Given the description of an element on the screen output the (x, y) to click on. 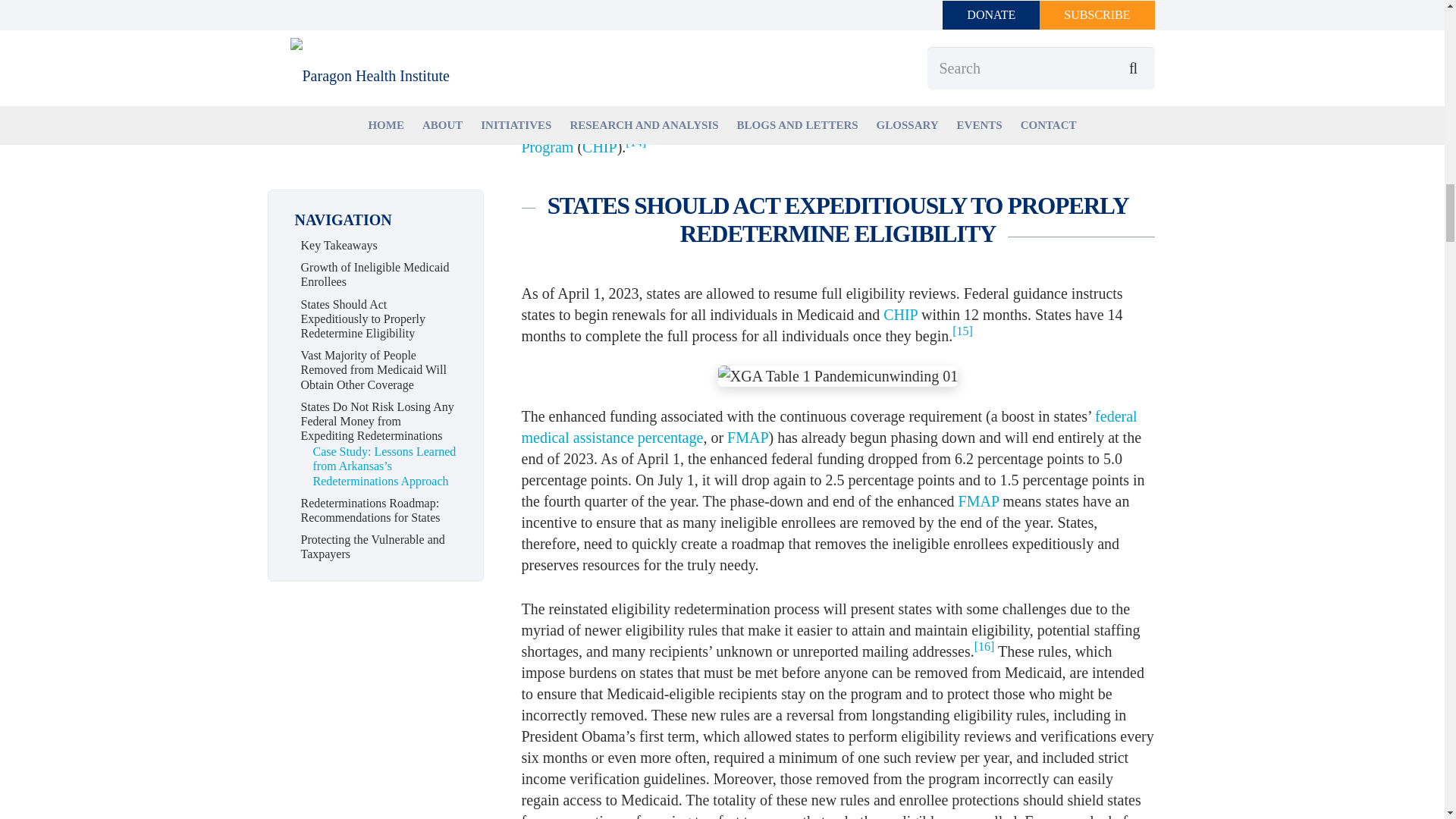
14 (636, 142)
13 (531, 78)
15 (962, 330)
12 (605, 35)
16 (984, 645)
